Given the description of an element on the screen output the (x, y) to click on. 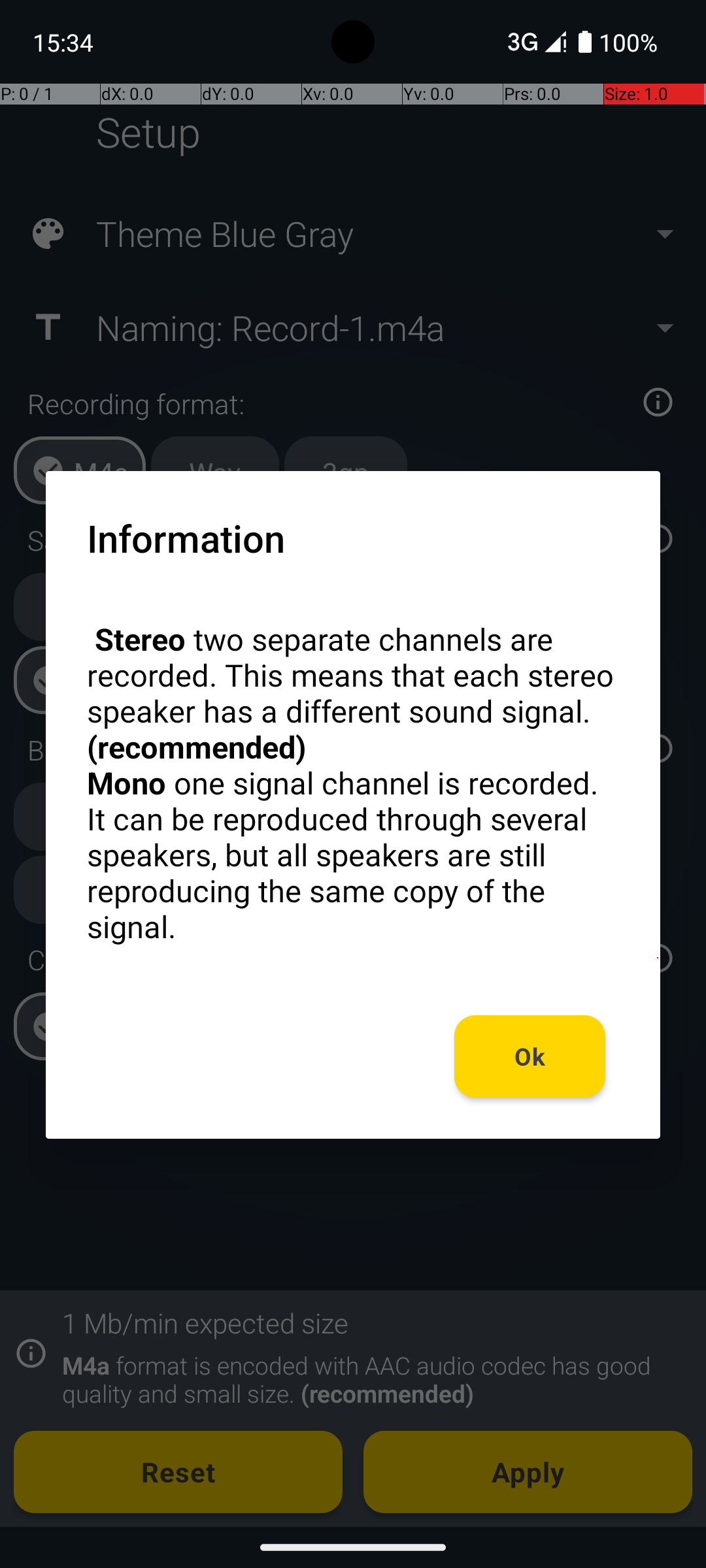
Information Element type: android.widget.TextView (185, 537)
 Stereo two separate channels are recorded. This means that each stereo speaker has a different sound signal. (recommended) 
Mono one signal channel is recorded. It can be reproduced through several speakers, but all speakers are still reproducing the same copy of the signal.  Element type: android.widget.TextView (352, 782)
Ok Element type: android.widget.Button (529, 1056)
